Given the description of an element on the screen output the (x, y) to click on. 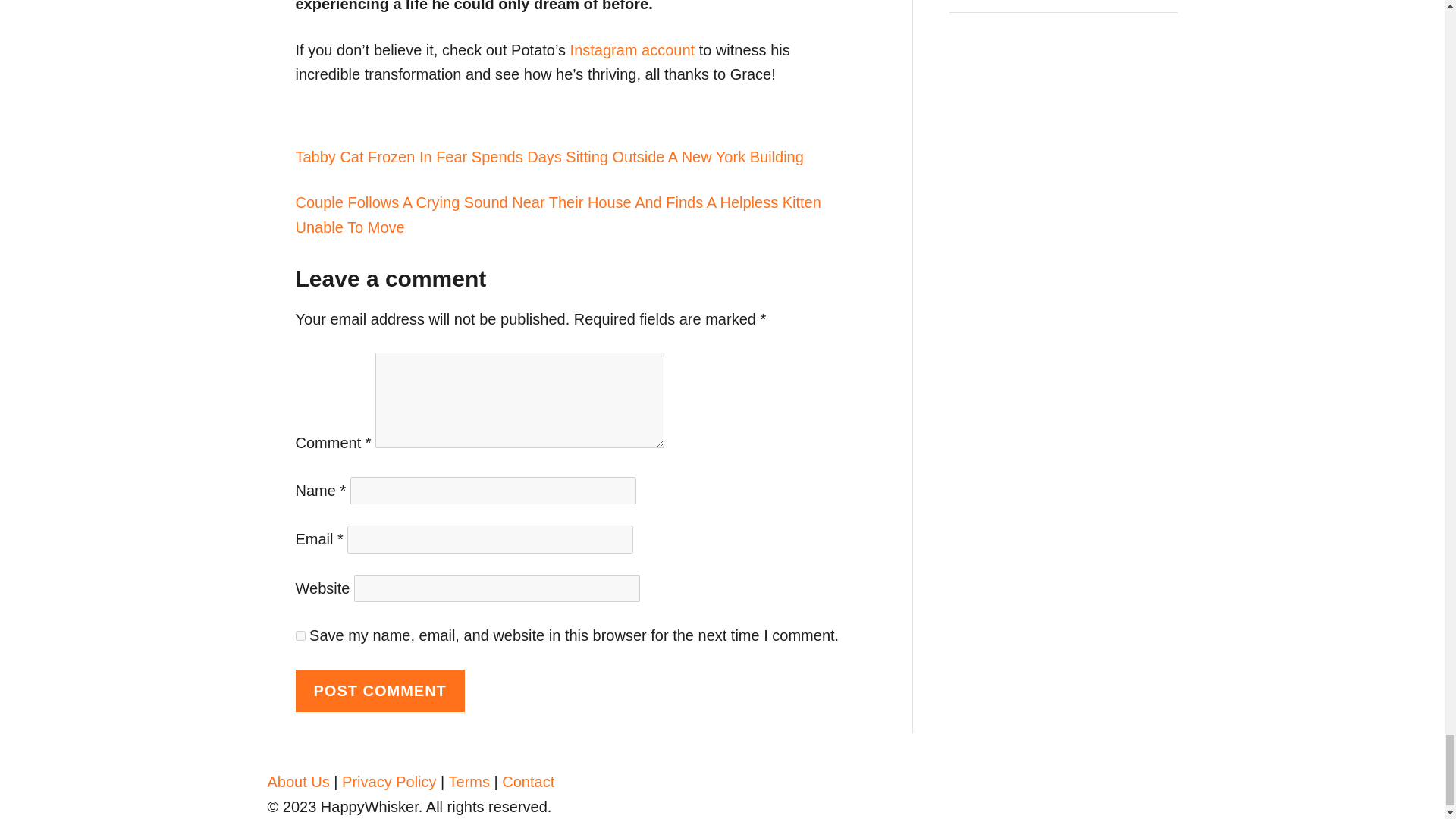
Post Comment (379, 690)
Contact (528, 781)
Instagram account (632, 49)
Privacy Policy (388, 781)
About Us (297, 781)
Terms (468, 781)
yes (300, 635)
Post Comment (379, 690)
